Given the description of an element on the screen output the (x, y) to click on. 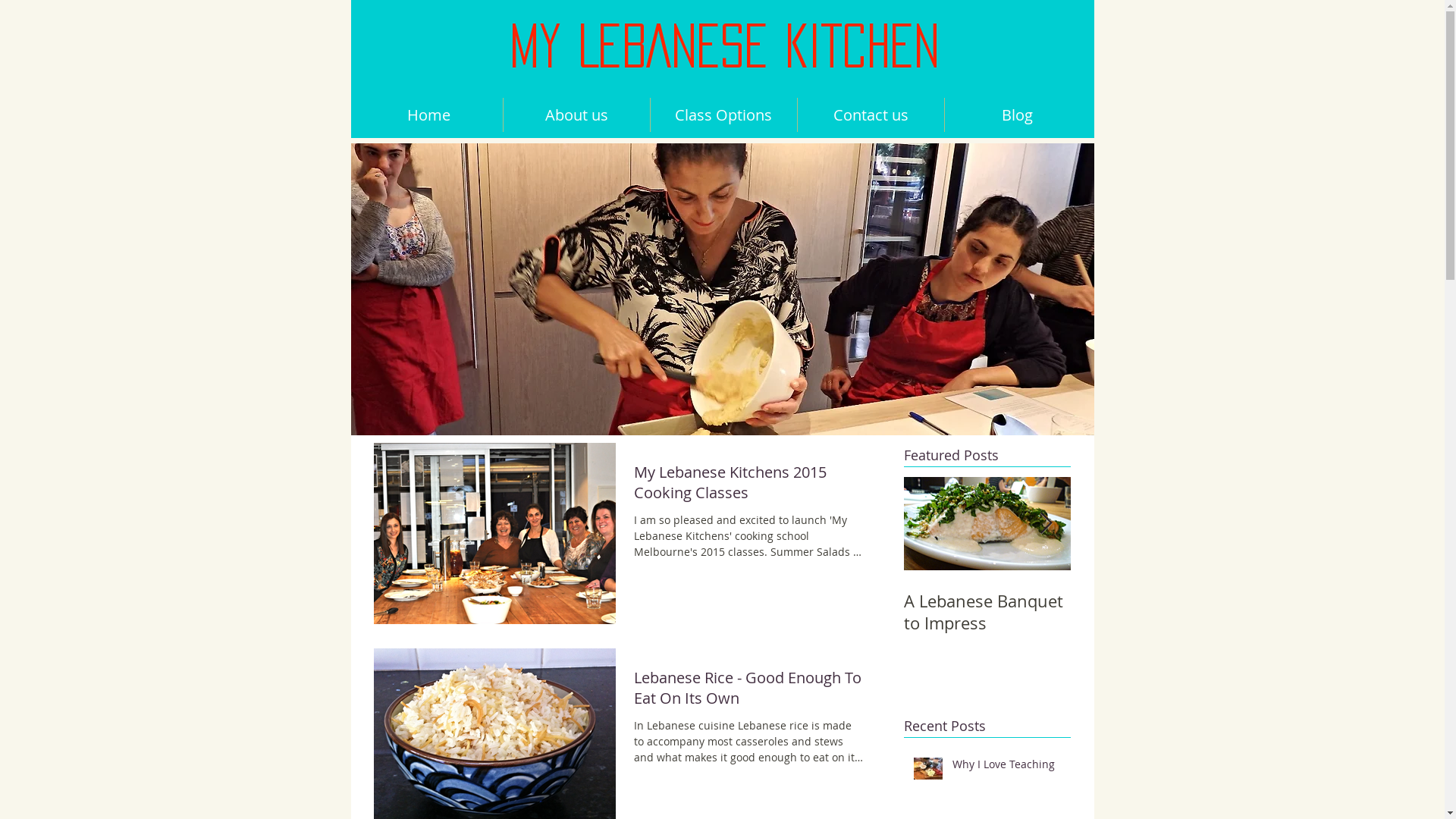
About us Element type: text (576, 114)
A Lebanese Banquet to Impress Element type: text (986, 611)
Home Element type: text (428, 114)
Golden Delicious Fried Halloumi Element type: text (1320, 611)
My Lebanese Kitchens 2015 Cooking Classes Element type: text (748, 486)
Why I Love Teaching Element type: text (1006, 767)
Transform Spinach into Something Sensational Element type: text (1153, 622)
Contact us Element type: text (870, 114)
Lebanese Rice - Good Enough To Eat On Its Own Element type: text (748, 691)
Class Options Element type: text (723, 114)
Blog Element type: text (1017, 114)
MY LEBANESE KITCHEN Element type: text (724, 46)
